Given the description of an element on the screen output the (x, y) to click on. 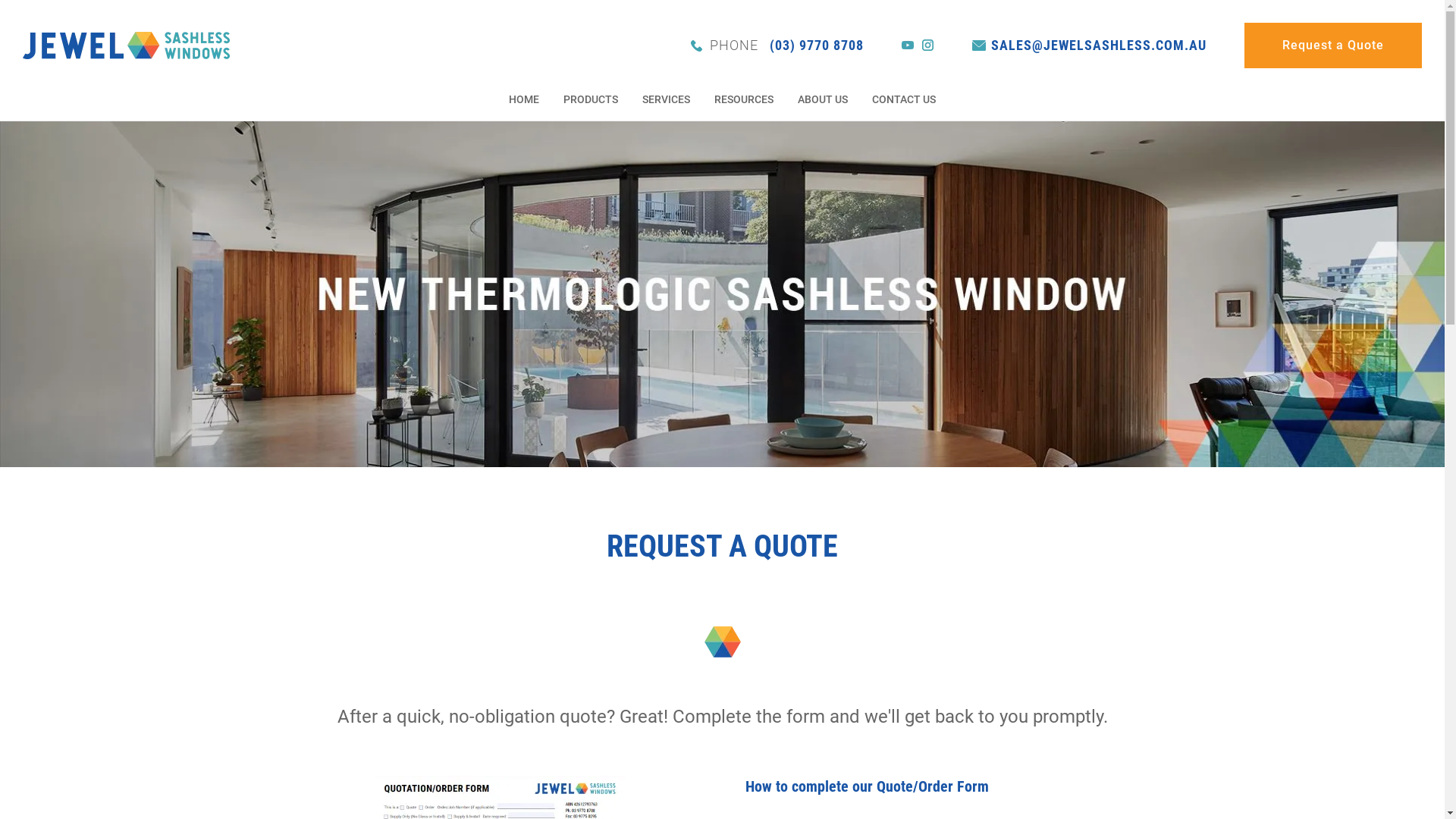
instagram Element type: text (928, 45)
PRODUCTS Element type: text (590, 100)
HOME Element type: text (523, 100)
SALES@JEWELSASHLESS.COM.AU Element type: text (1089, 45)
Jewel Sashless Windows Aust. Pty Ltd Element type: hover (125, 44)
SERVICES Element type: text (665, 100)
ABOUT US Element type: text (822, 100)
RESOURCES Element type: text (743, 100)
Request a Quote Element type: text (1332, 45)
PHONE (03) 9770 8708 Element type: text (776, 44)
CONTACT US Element type: text (903, 100)
youtube Element type: text (907, 45)
